Given the description of an element on the screen output the (x, y) to click on. 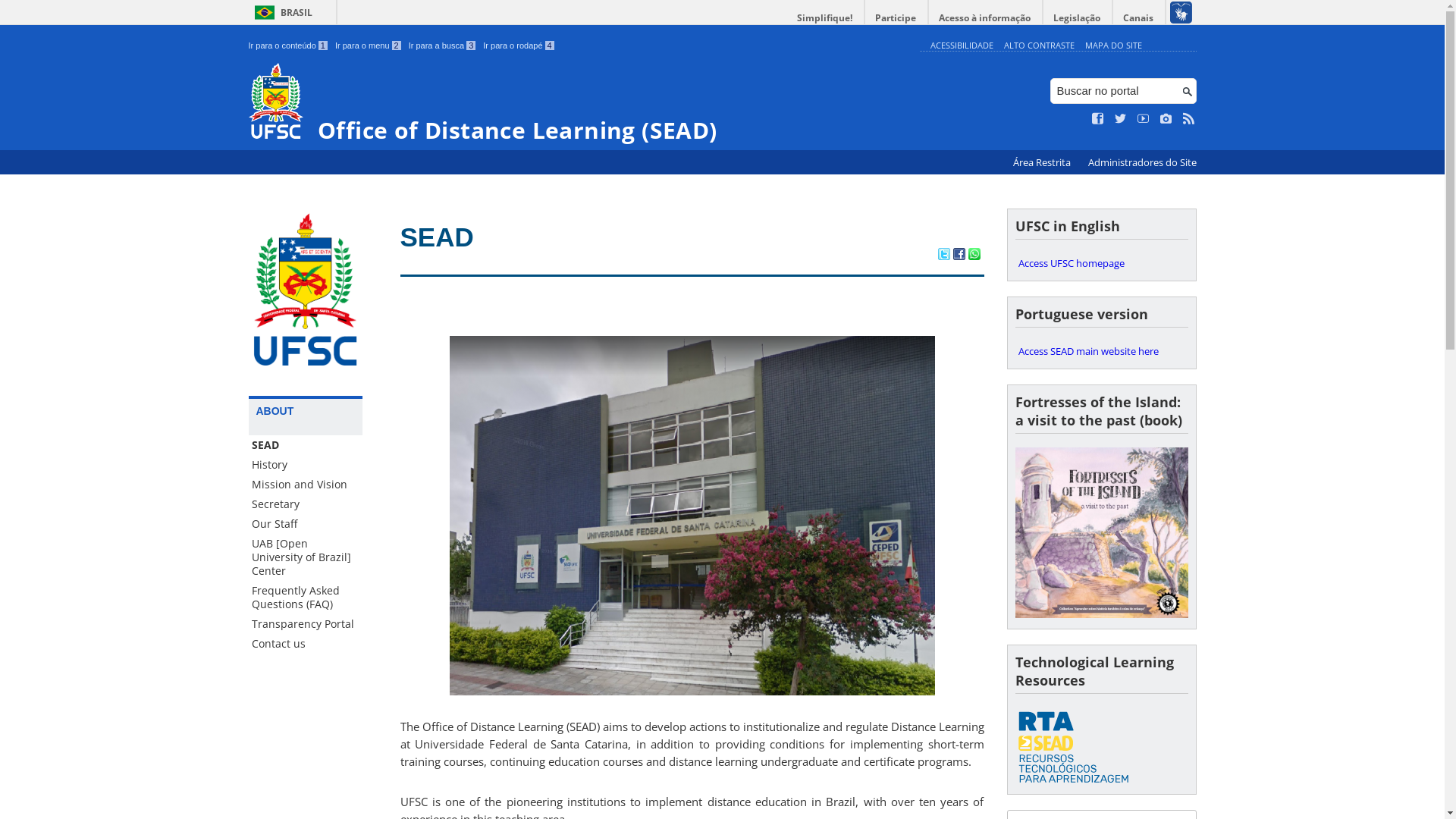
Simplifique! Element type: text (825, 18)
Ir para o menu 2 Element type: text (368, 45)
Curta no Facebook Element type: hover (1098, 118)
SEAD Element type: text (305, 445)
Our Staff Element type: text (305, 523)
Siga no Twitter Element type: hover (1120, 118)
Office of Distance Learning (SEAD) Element type: text (580, 102)
UAB [Open University of Brazil] Center Element type: text (305, 556)
ALTO CONTRASTE Element type: text (1039, 44)
SEAD Element type: text (436, 236)
Transparency Portal Element type: text (305, 623)
Participe Element type: text (895, 18)
Secretary Element type: text (305, 504)
BRASIL Element type: text (280, 12)
ACESSIBILIDADE Element type: text (960, 44)
Ir para a busca 3 Element type: text (442, 45)
Canais Element type: text (1138, 18)
Contact us Element type: text (305, 643)
Frequently Asked Questions (FAQ) Element type: text (305, 597)
Compartilhar no Twitter Element type: hover (943, 255)
Mission and Vision Element type: text (305, 484)
MAPA DO SITE Element type: text (1112, 44)
Compartilhar no Facebook Element type: hover (958, 255)
Veja no Instagram Element type: hover (1166, 118)
Access UFSC homepage Element type: text (1100, 263)
Administradores do Site Element type: text (1141, 162)
History Element type: text (305, 464)
Compartilhar no WhatsApp Element type: hover (973, 255)
Access SEAD main website here Element type: text (1100, 350)
